Given the description of an element on the screen output the (x, y) to click on. 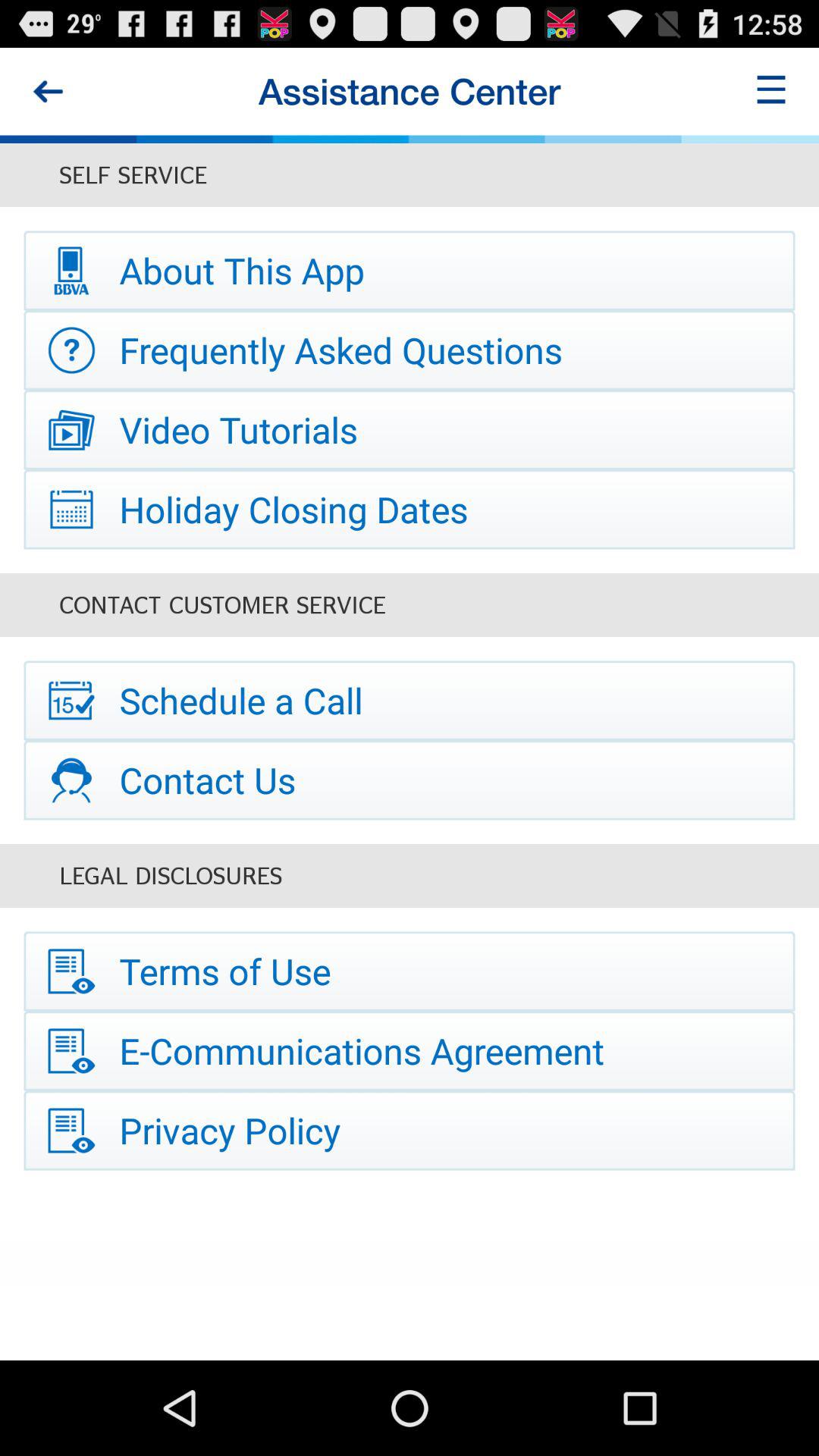
go to previous (47, 91)
